Given the description of an element on the screen output the (x, y) to click on. 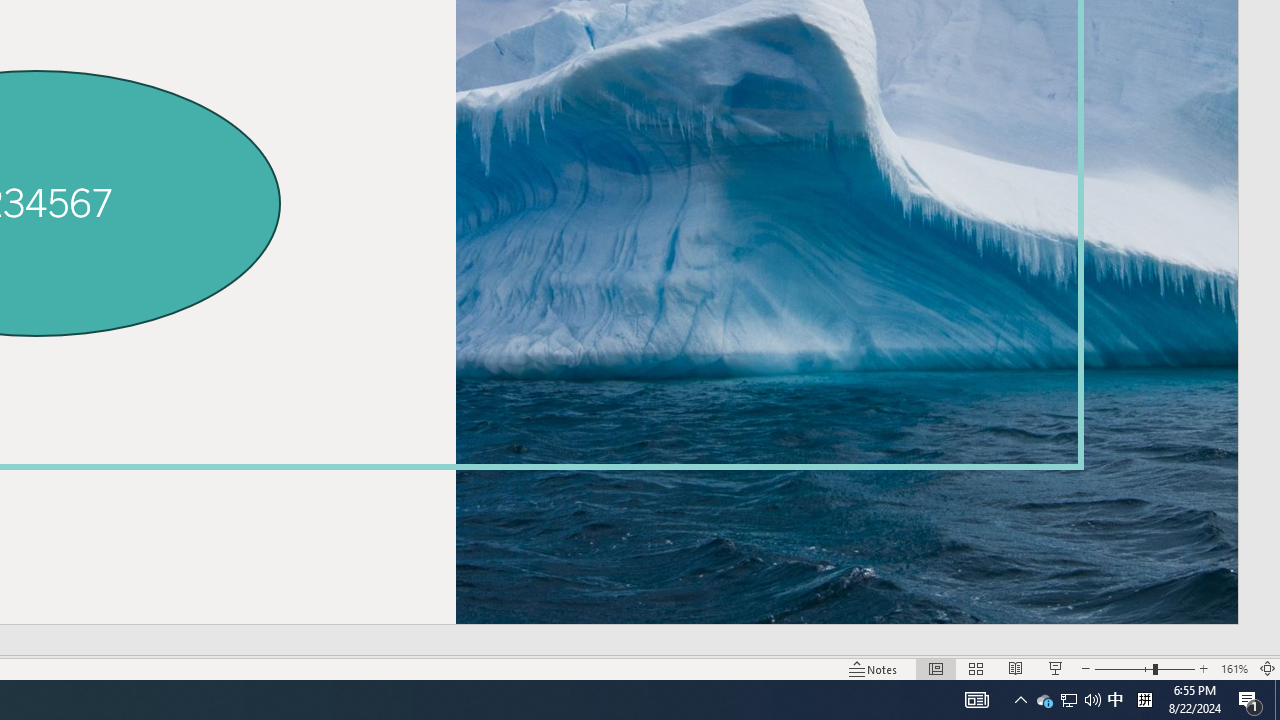
Zoom 161% (1234, 668)
